Given the description of an element on the screen output the (x, y) to click on. 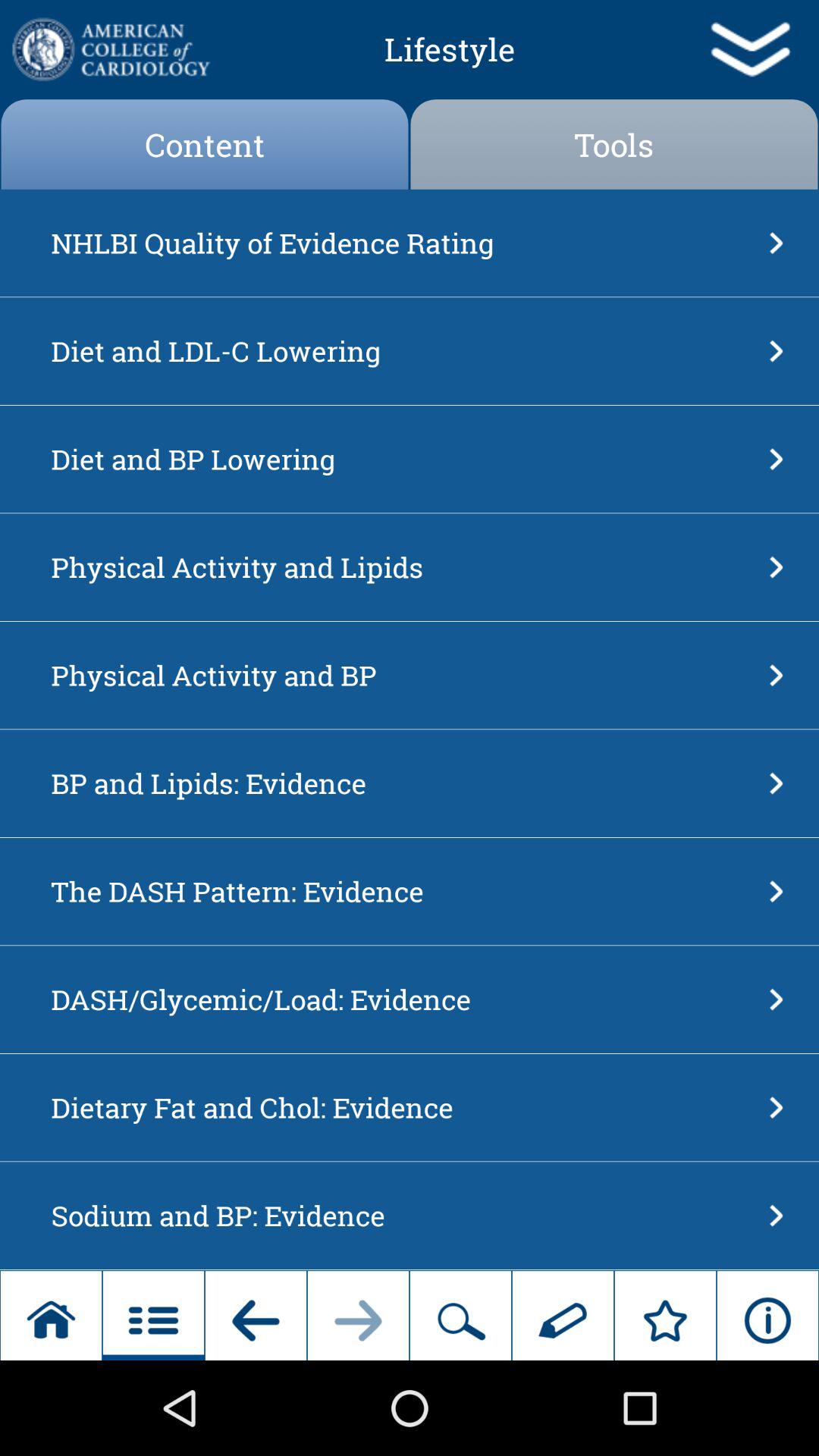
go to acoc website (109, 49)
